Given the description of an element on the screen output the (x, y) to click on. 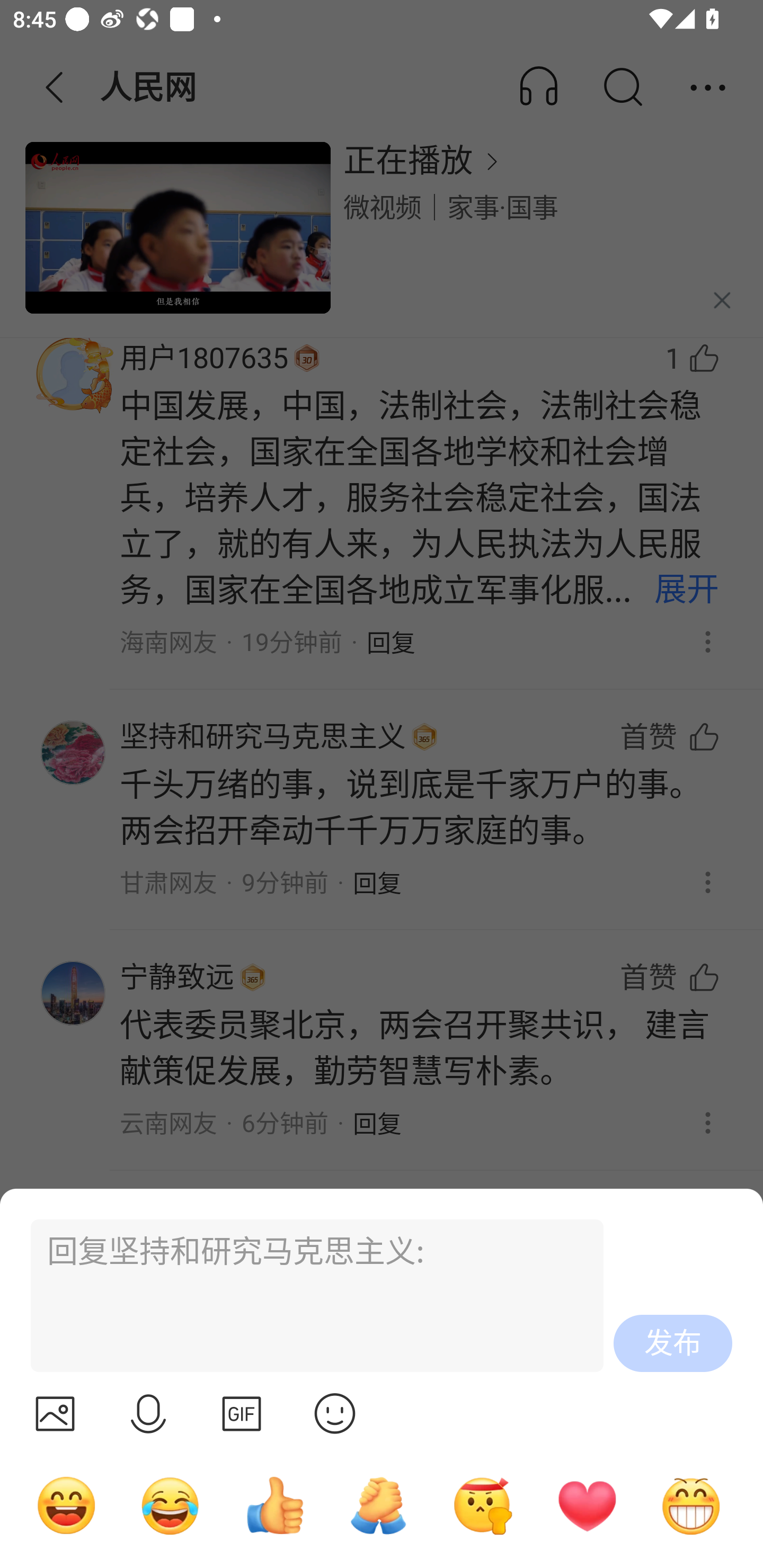
回复坚持和研究马克思主义: (308, 1295)
发布 (672, 1343)
 (54, 1413)
 (148, 1413)
 (241, 1413)
 (334, 1413)
哈哈 (66, 1505)
哭笑 (170, 1505)
点赞 (274, 1505)
加油 (378, 1505)
奋斗 (482, 1505)
心 (586, 1505)
呲牙 (690, 1505)
